Given the description of an element on the screen output the (x, y) to click on. 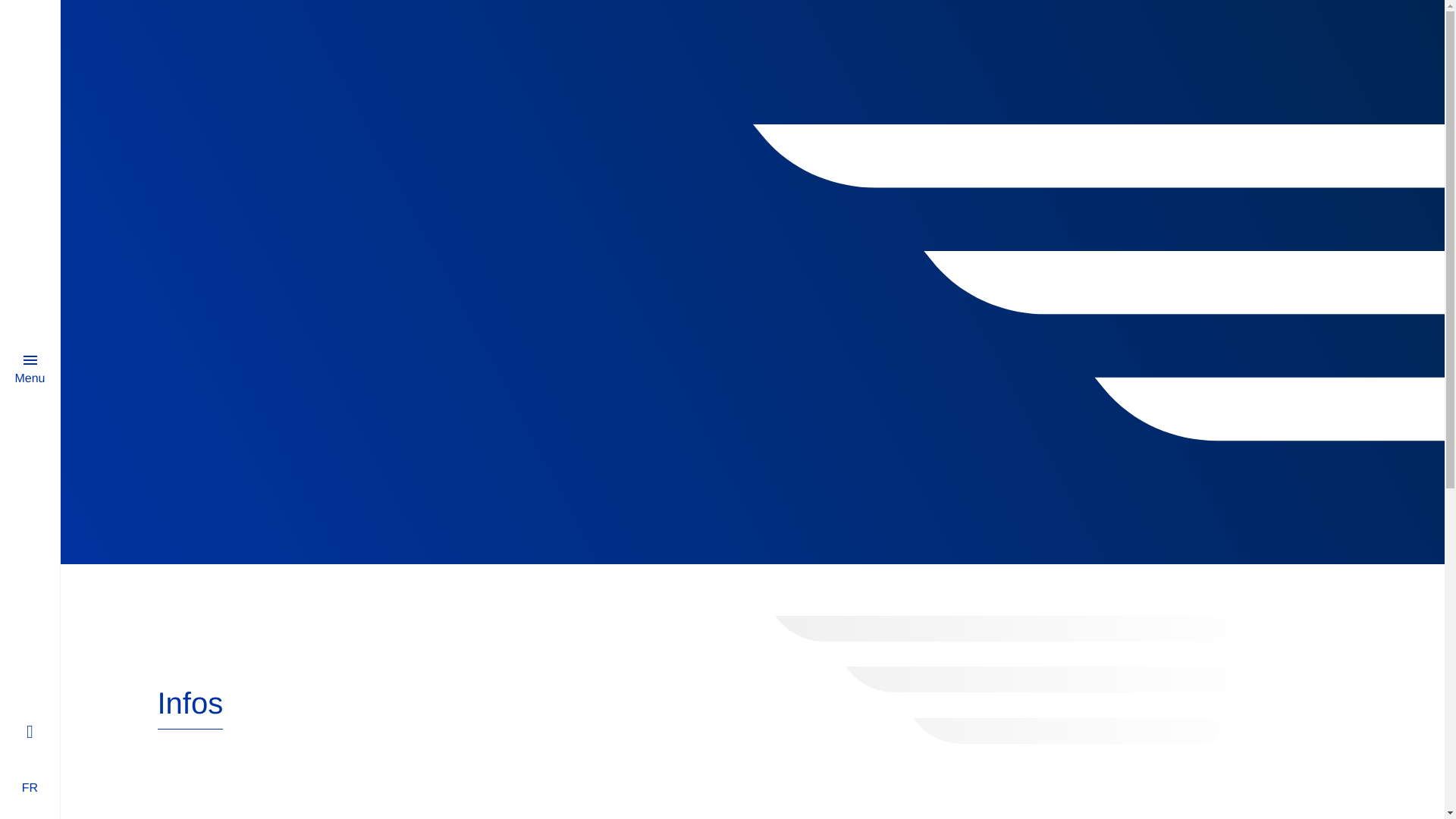
Menu (29, 367)
Infos (190, 708)
